Given the description of an element on the screen output the (x, y) to click on. 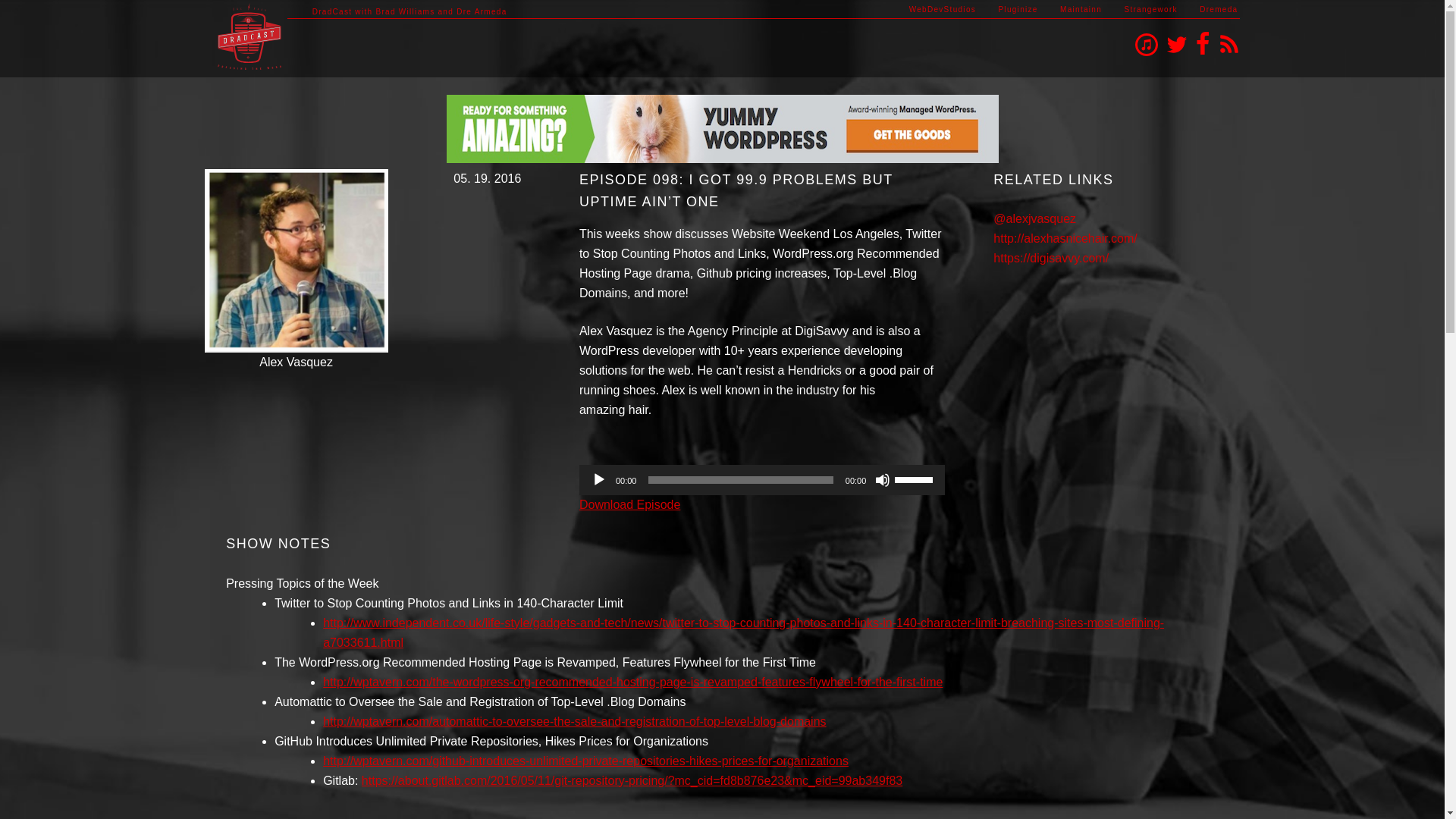
Strangework (1150, 9)
WebDevStudios (941, 9)
WordPress Websites and Custom Development (941, 9)
Download Episode (629, 504)
Maintainn (1080, 9)
WordPress Plugins and Premium Products (1016, 9)
Dremeda (1218, 9)
WordPress Maintenance and Update Services (1080, 9)
Pluginize (1016, 9)
